Given the description of an element on the screen output the (x, y) to click on. 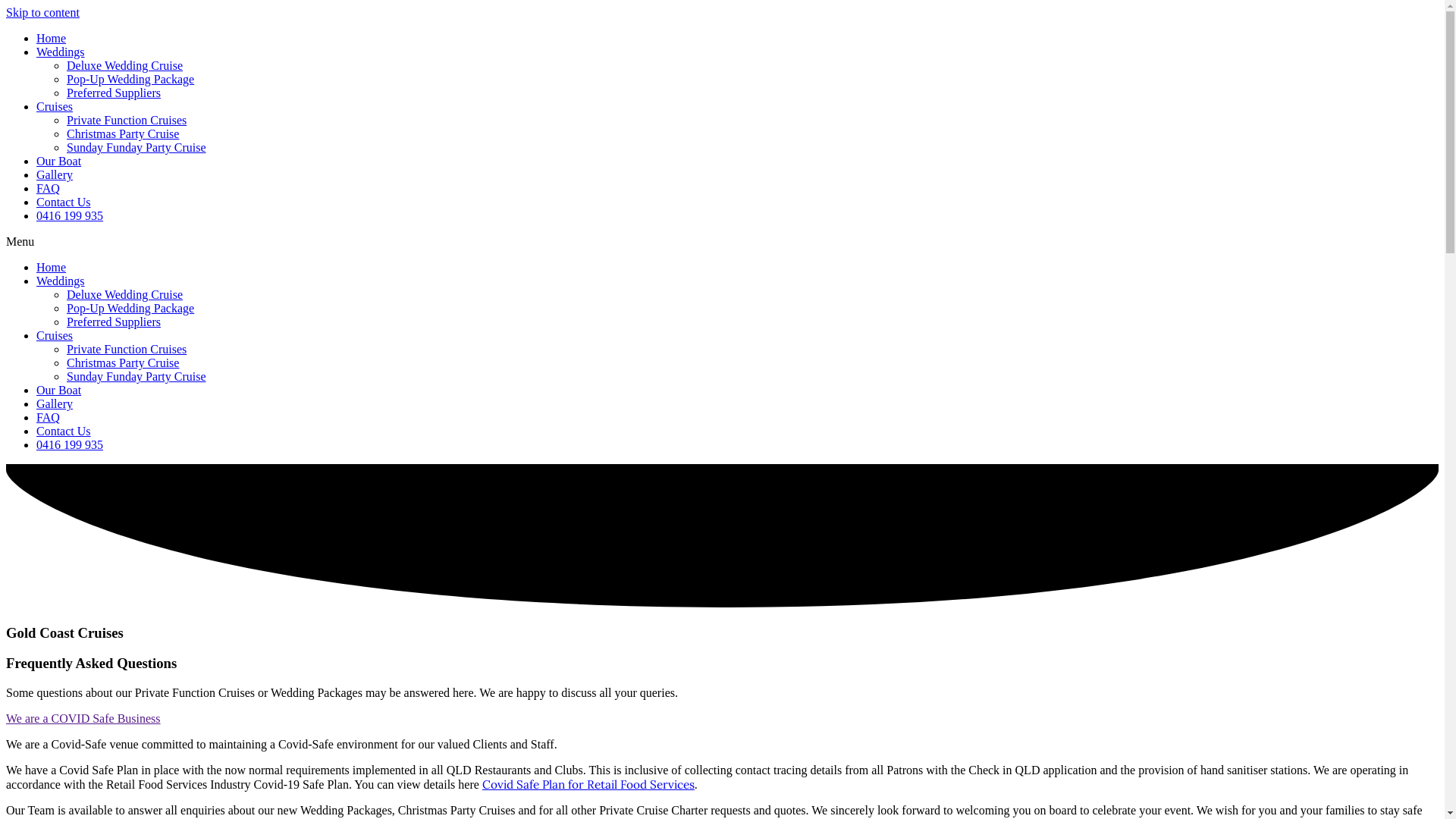
FAQ Element type: text (47, 417)
Christmas Party Cruise Element type: text (122, 133)
FAQ Element type: text (47, 188)
Christmas Party Cruise Element type: text (122, 362)
Cruises Element type: text (54, 106)
Pop-Up Wedding Package Element type: text (130, 307)
Gallery Element type: text (54, 403)
Home Element type: text (50, 266)
Preferred Suppliers Element type: text (113, 321)
Skip to content Element type: text (42, 12)
Pop-Up Wedding Package Element type: text (130, 78)
Covid Safe Plan for Retail Food Services Element type: text (588, 784)
We are a COVID Safe Business Element type: text (83, 718)
Contact Us Element type: text (63, 201)
Gallery Element type: text (54, 174)
Preferred Suppliers Element type: text (113, 92)
Contact Us Element type: text (63, 430)
Weddings Element type: text (60, 51)
Sunday Funday Party Cruise Element type: text (136, 147)
Weddings Element type: text (60, 280)
Cruises Element type: text (54, 335)
0416 199 935 Element type: text (69, 444)
Our Boat Element type: text (58, 160)
Our Boat Element type: text (58, 389)
Deluxe Wedding Cruise Element type: text (124, 294)
Home Element type: text (50, 37)
0416 199 935 Element type: text (69, 215)
Sunday Funday Party Cruise Element type: text (136, 376)
Private Function Cruises Element type: text (126, 119)
Private Function Cruises Element type: text (126, 348)
Deluxe Wedding Cruise Element type: text (124, 65)
